Given the description of an element on the screen output the (x, y) to click on. 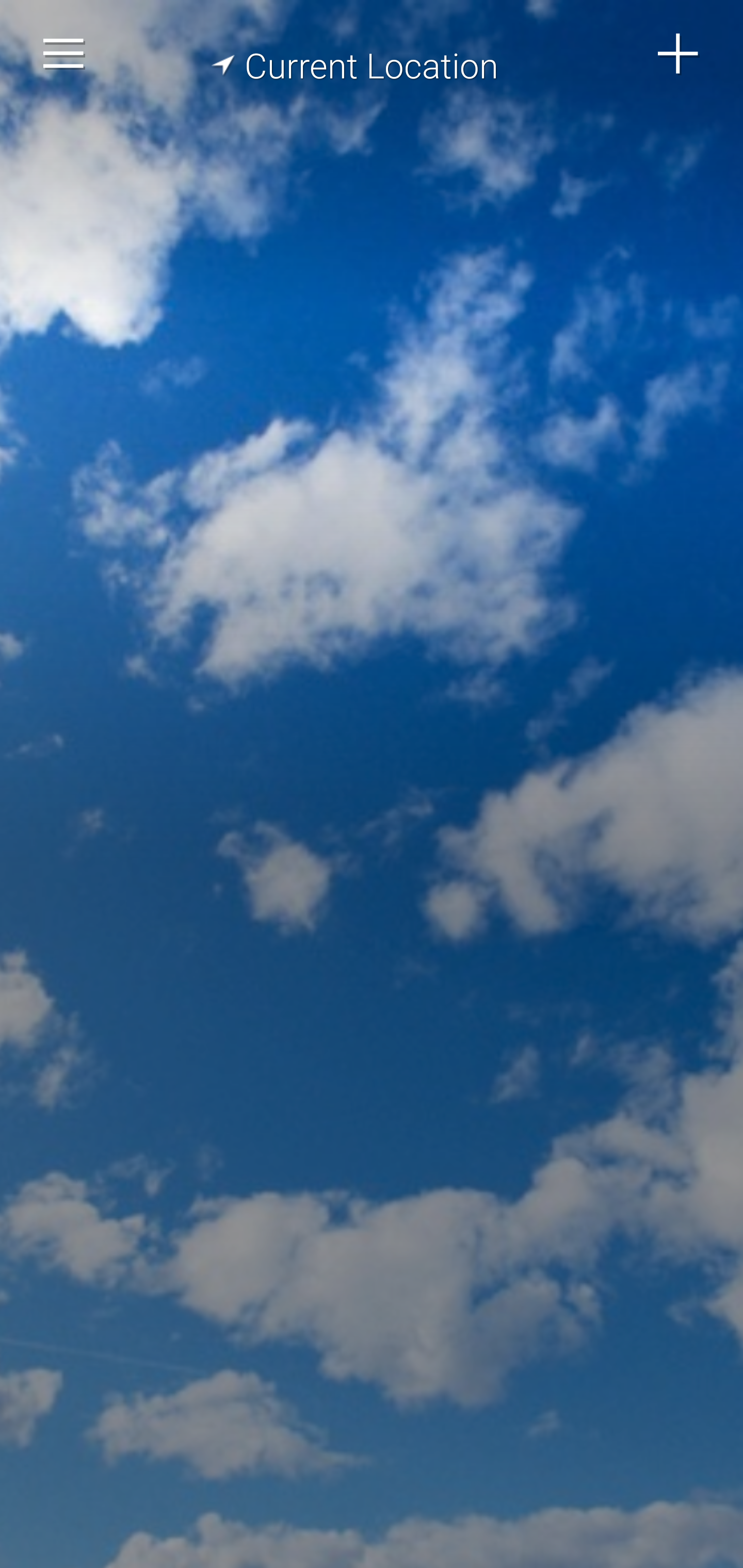
Sidebar (64, 54)
Add City (678, 53)
